Given the description of an element on the screen output the (x, y) to click on. 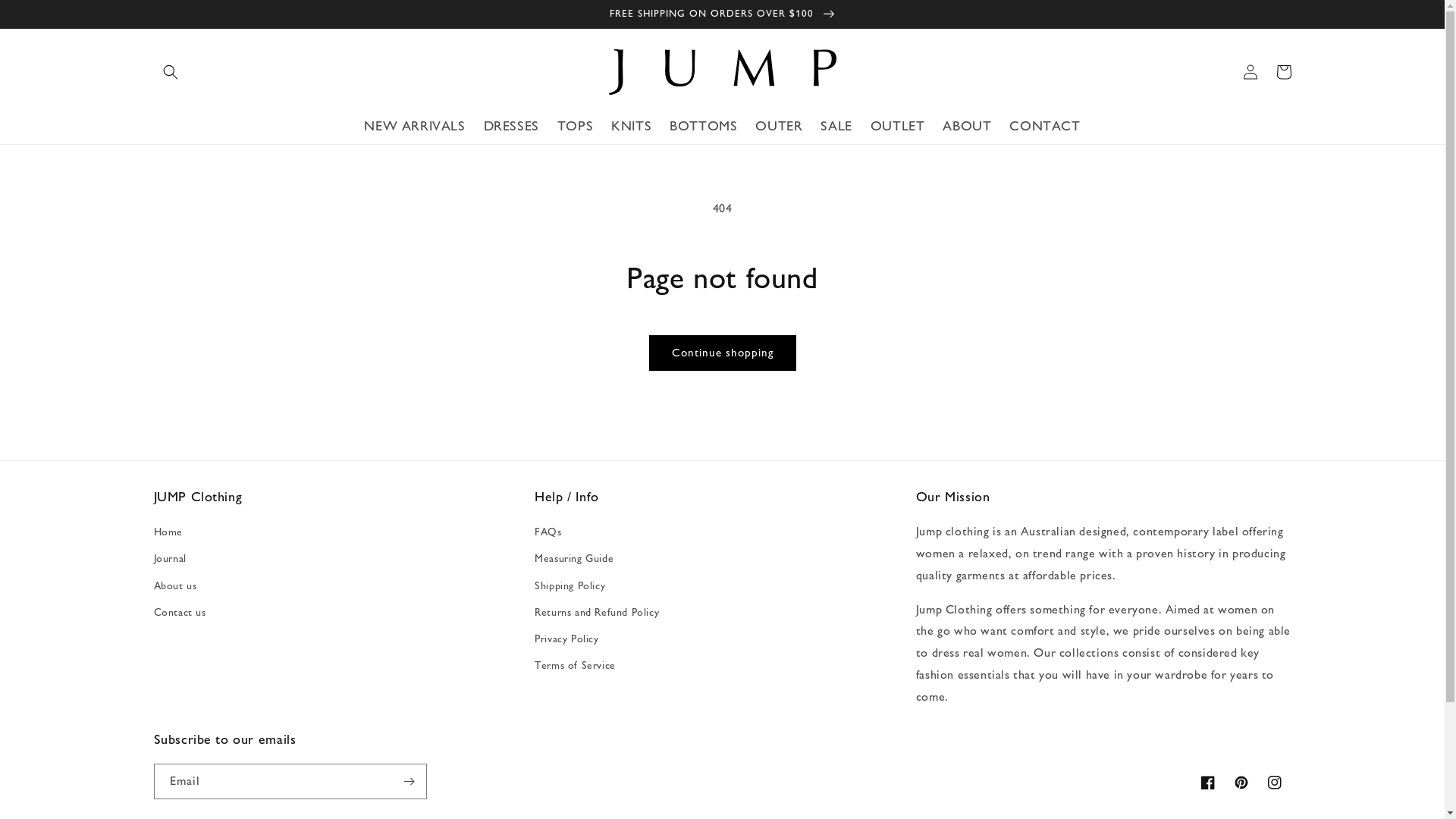
Home Element type: text (167, 533)
NEW ARRIVALS Element type: text (413, 126)
Privacy Policy Element type: text (566, 638)
BOTTOMS Element type: text (703, 126)
About us Element type: text (174, 585)
Journal Element type: text (169, 558)
Returns and Refund Policy Element type: text (596, 612)
Terms of Service Element type: text (574, 665)
KNITS Element type: text (631, 126)
DRESSES Element type: text (511, 126)
FAQs Element type: text (547, 533)
Cart Element type: text (1282, 71)
Shipping Policy Element type: text (569, 585)
FREE SHIPPING ON ORDERS OVER $100 Element type: text (722, 14)
Instagram Element type: text (1273, 782)
Pinterest Element type: text (1240, 782)
Log in Element type: text (1249, 71)
TOPS Element type: text (575, 126)
OUTLET Element type: text (897, 126)
CONTACT Element type: text (1044, 126)
SALE Element type: text (835, 126)
Measuring Guide Element type: text (573, 558)
ABOUT Element type: text (966, 126)
Contact us Element type: text (179, 612)
Continue shopping Element type: text (722, 352)
Facebook Element type: text (1206, 782)
OUTER Element type: text (778, 126)
